Given the description of an element on the screen output the (x, y) to click on. 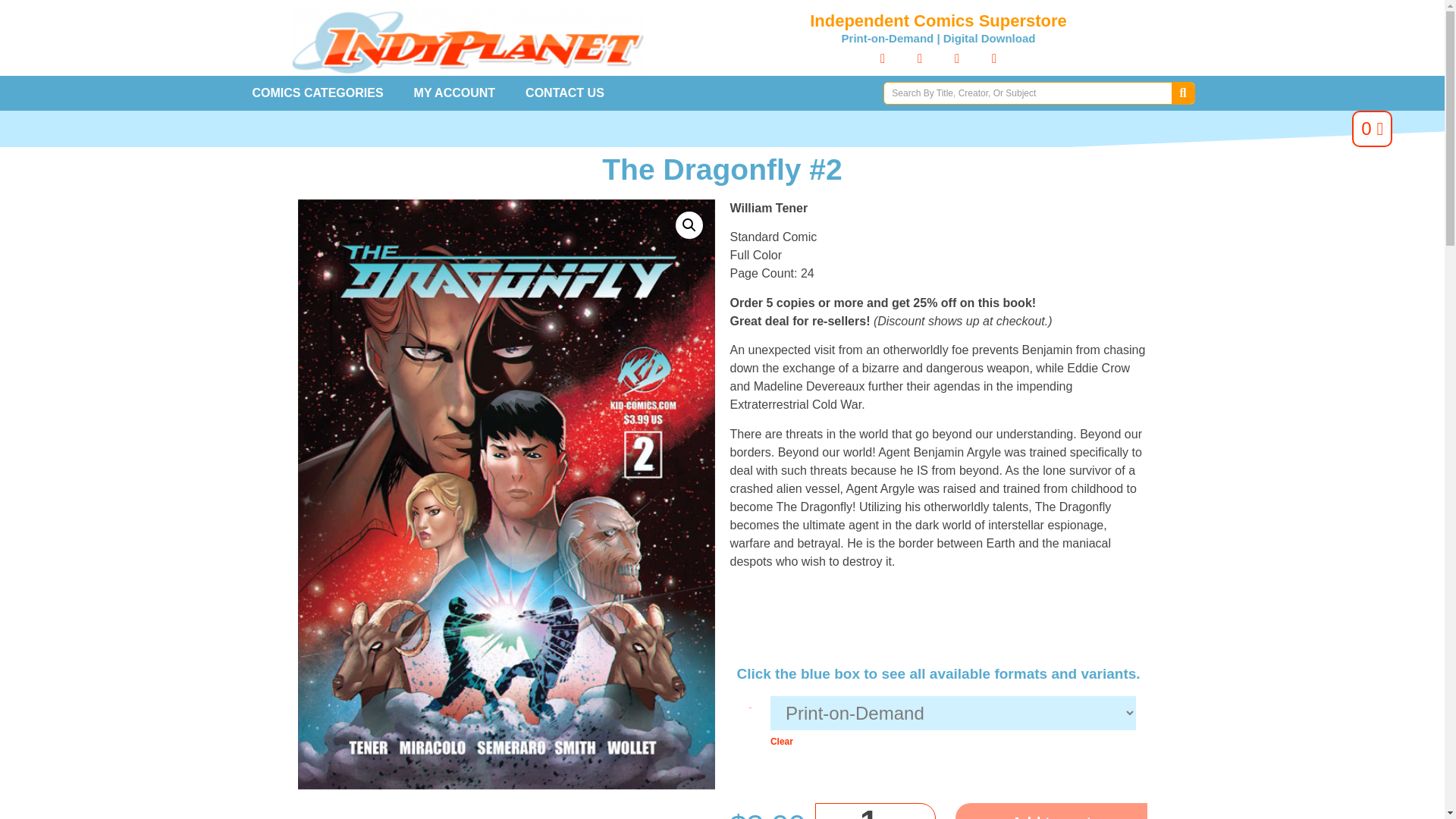
COMICS CATEGORIES (316, 92)
0 (1371, 128)
Add to cart (1051, 811)
Clear (781, 741)
1 (875, 811)
CONTACT US (565, 92)
MY ACCOUNT (454, 92)
